Given the description of an element on the screen output the (x, y) to click on. 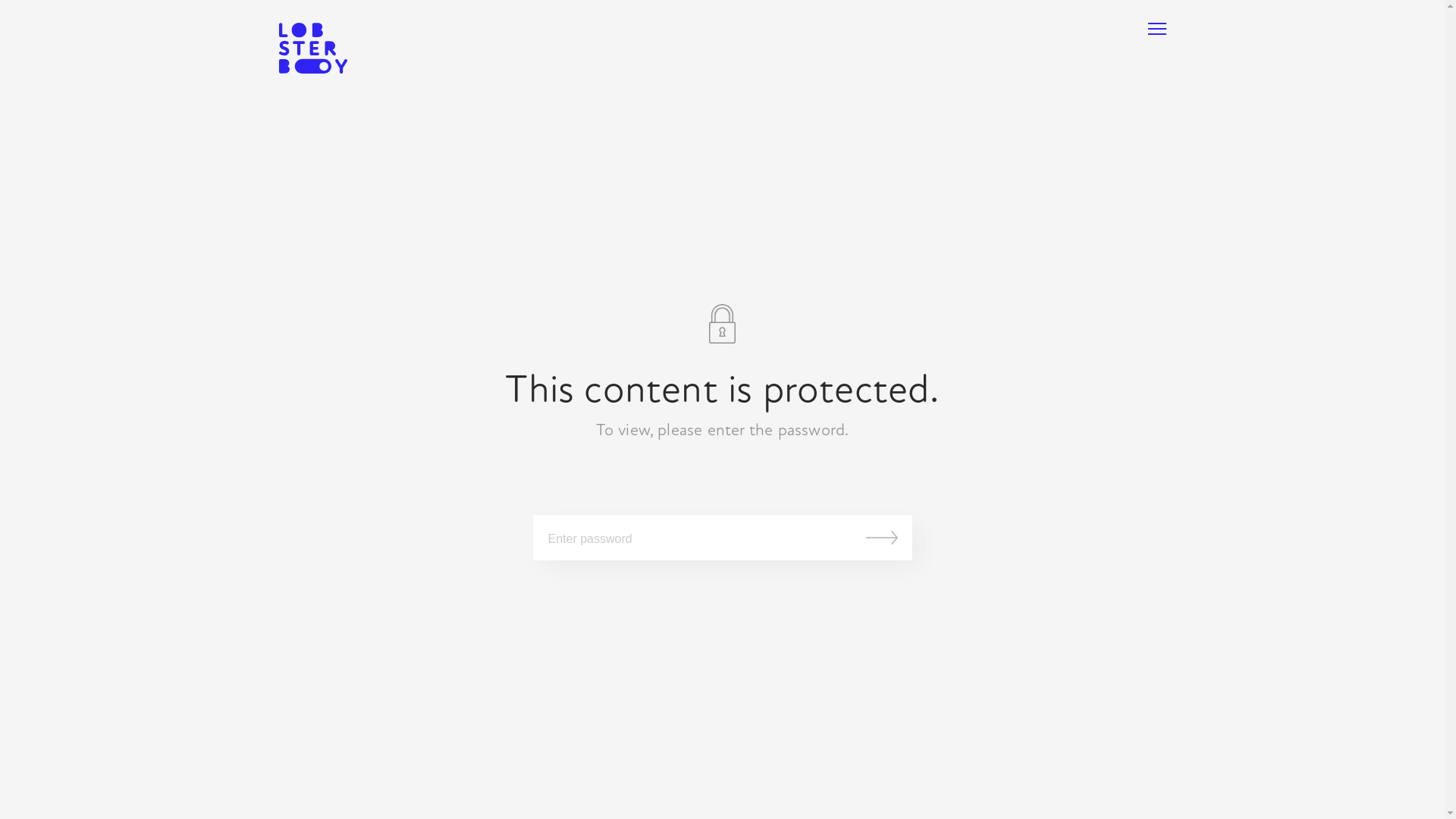
Lobsterboy Element type: hover (313, 49)
Submit Element type: text (881, 537)
